Given the description of an element on the screen output the (x, y) to click on. 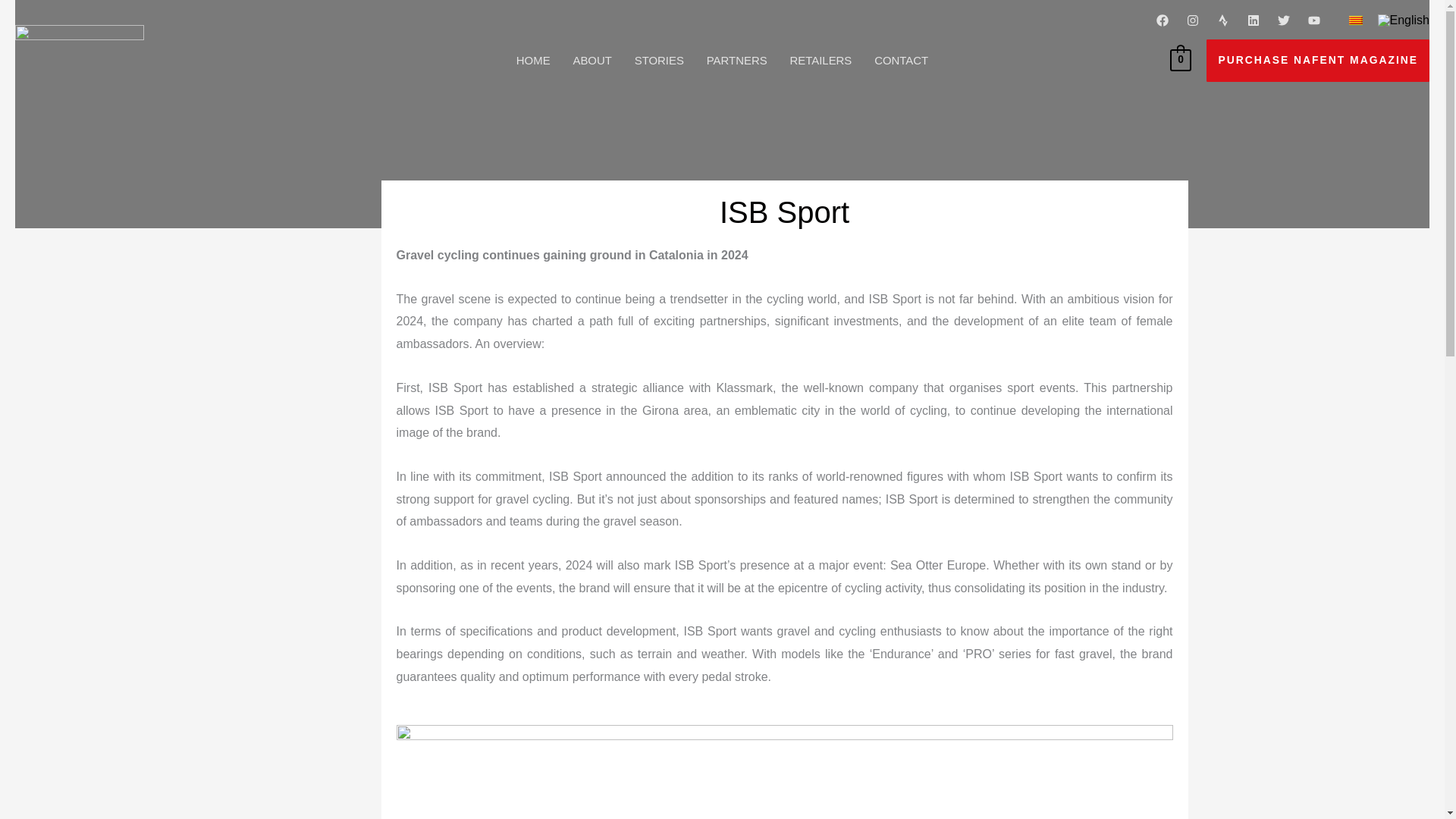
PARTNERS (736, 60)
View your shopping cart (1181, 59)
HOME (533, 60)
0 (1181, 59)
ABOUT (592, 60)
PURCHASE NAFENT MAGAZINE (1318, 60)
STORIES (659, 60)
CONTACT (901, 60)
RETAILERS (820, 60)
